Given the description of an element on the screen output the (x, y) to click on. 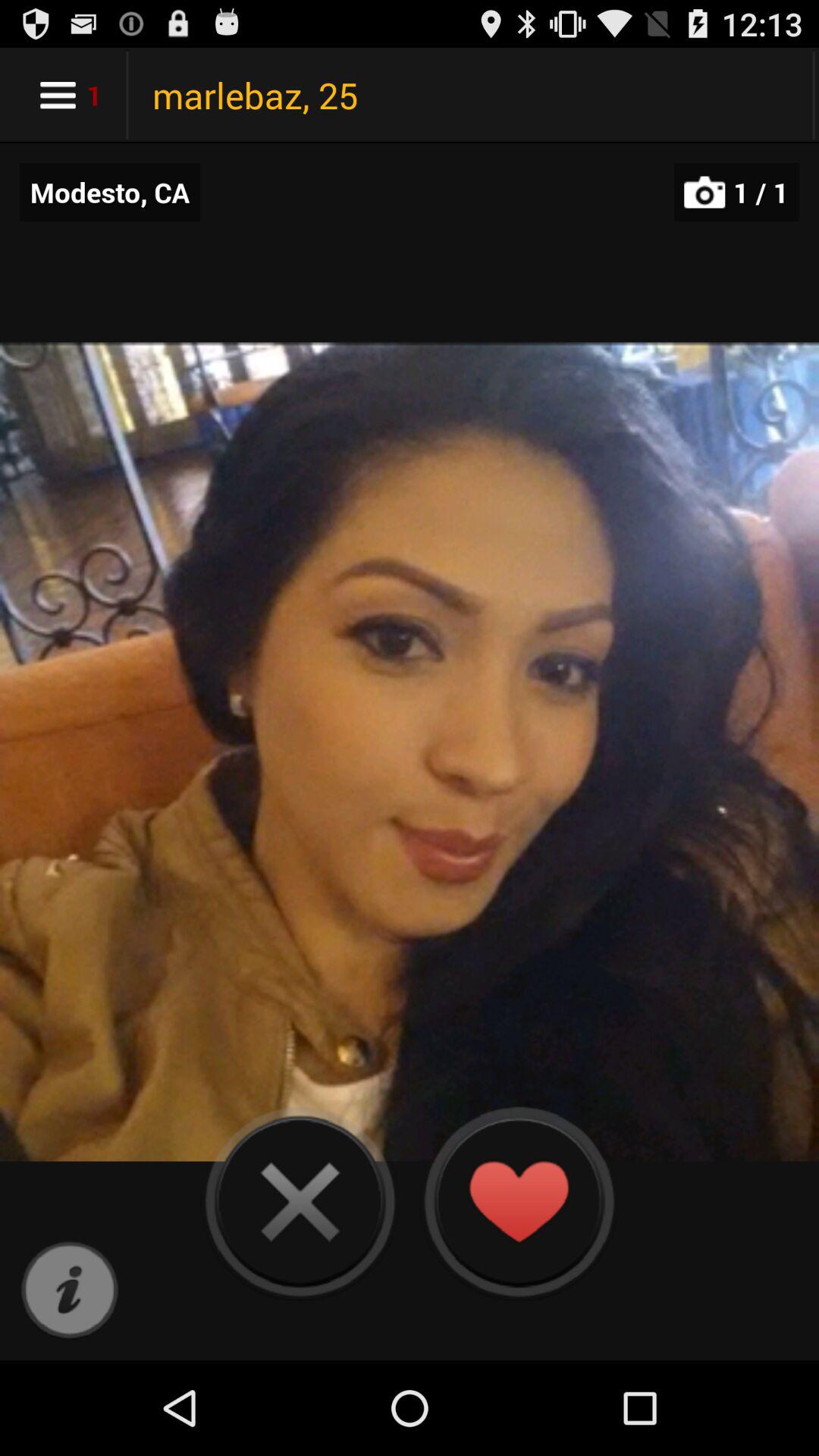
launch app below modesto, ca app (69, 1290)
